Given the description of an element on the screen output the (x, y) to click on. 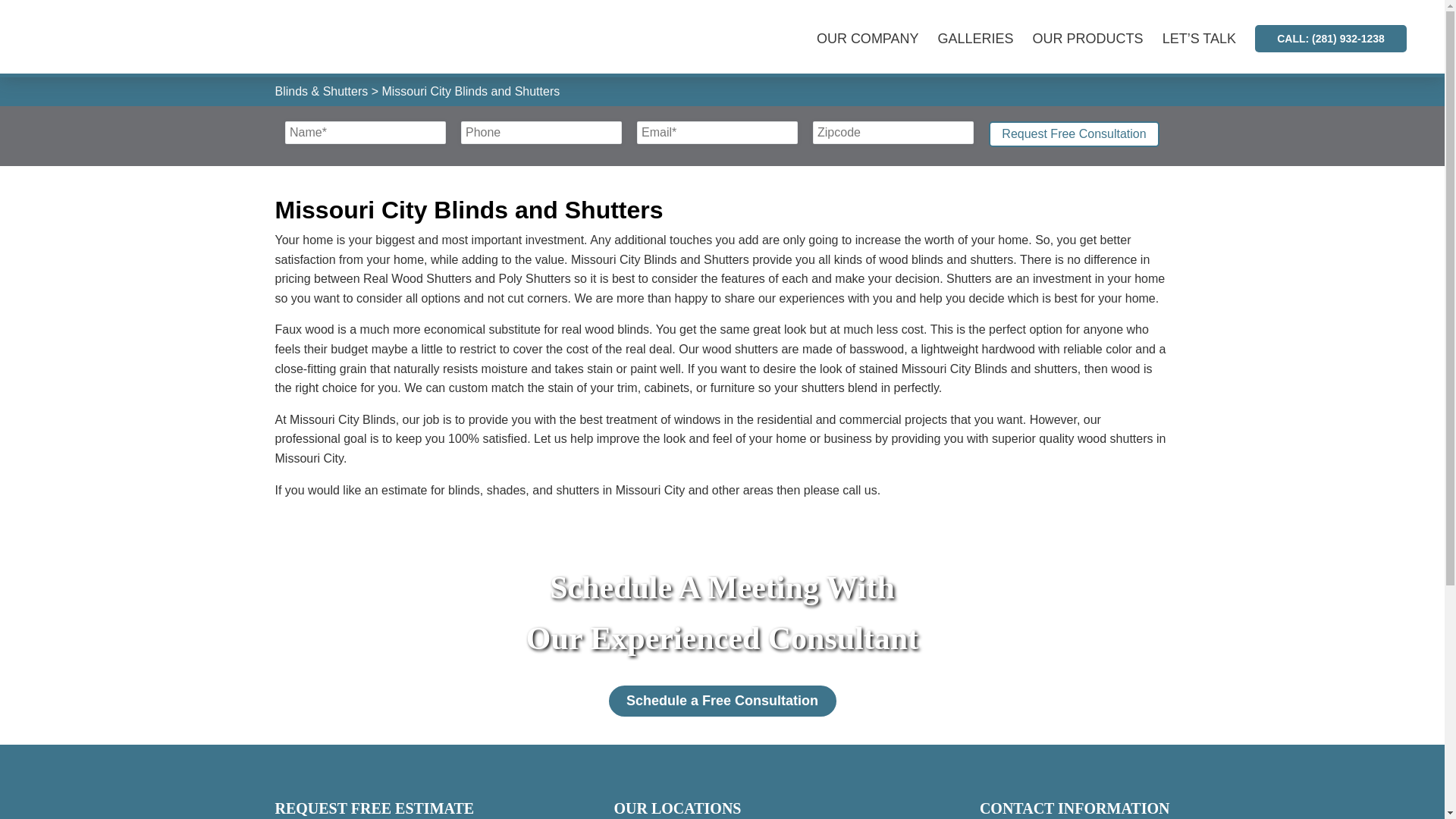
OUR PRODUCTS (1096, 38)
Blinds and Shutters Houston (132, 38)
Request Free Consultation (1073, 134)
OUR COMPANY (876, 38)
GALLERIES (984, 38)
